Given the description of an element on the screen output the (x, y) to click on. 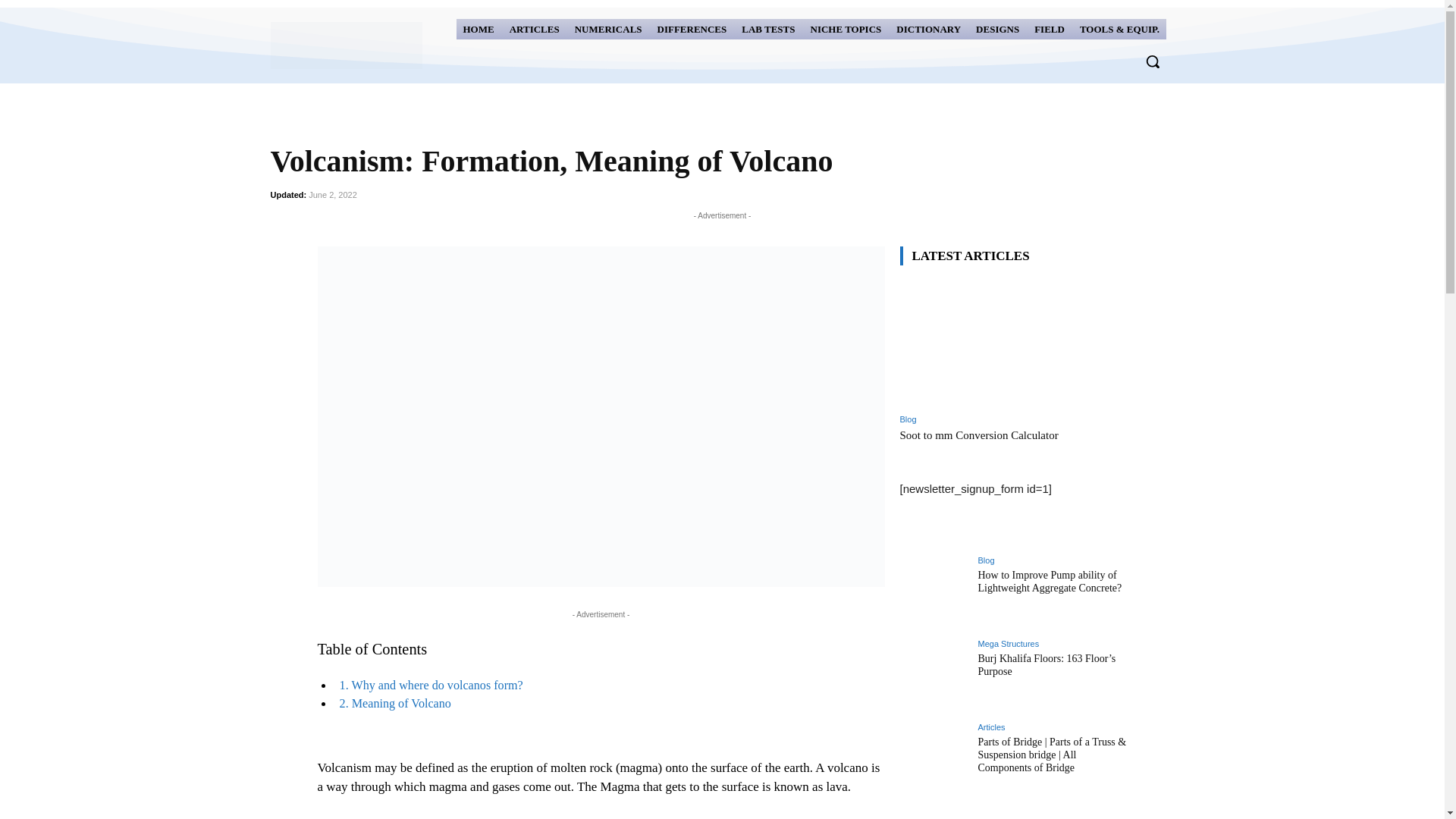
DESIGNS (997, 28)
FIELD (1049, 28)
HOME (478, 28)
DICTIONARY (928, 28)
ARTICLES (534, 28)
NICHE TOPICS (845, 28)
LAB TESTS (768, 28)
NUMERICALS (608, 28)
DIFFERENCES (691, 28)
